Given the description of an element on the screen output the (x, y) to click on. 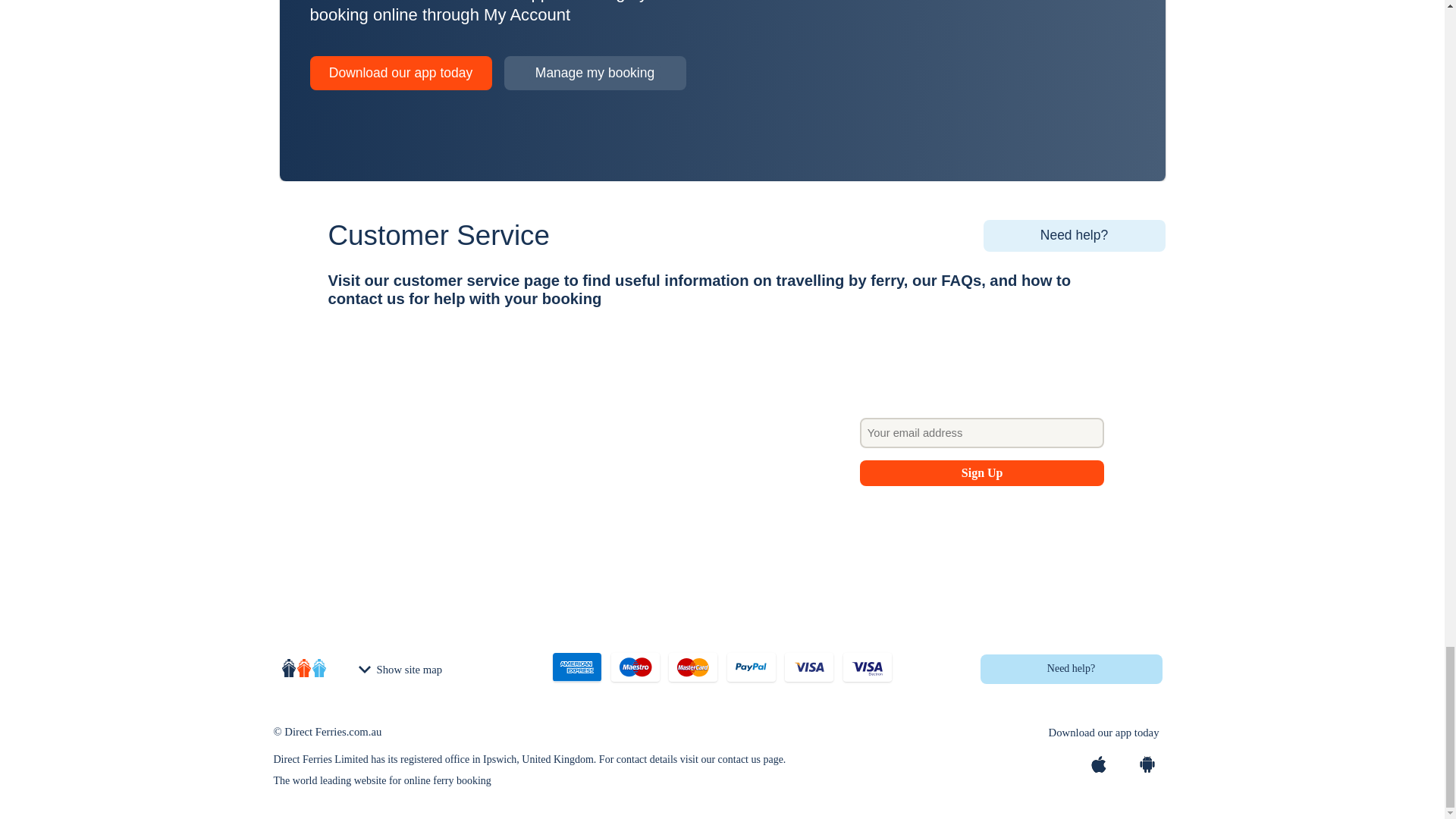
Sign Up (982, 473)
